Given the description of an element on the screen output the (x, y) to click on. 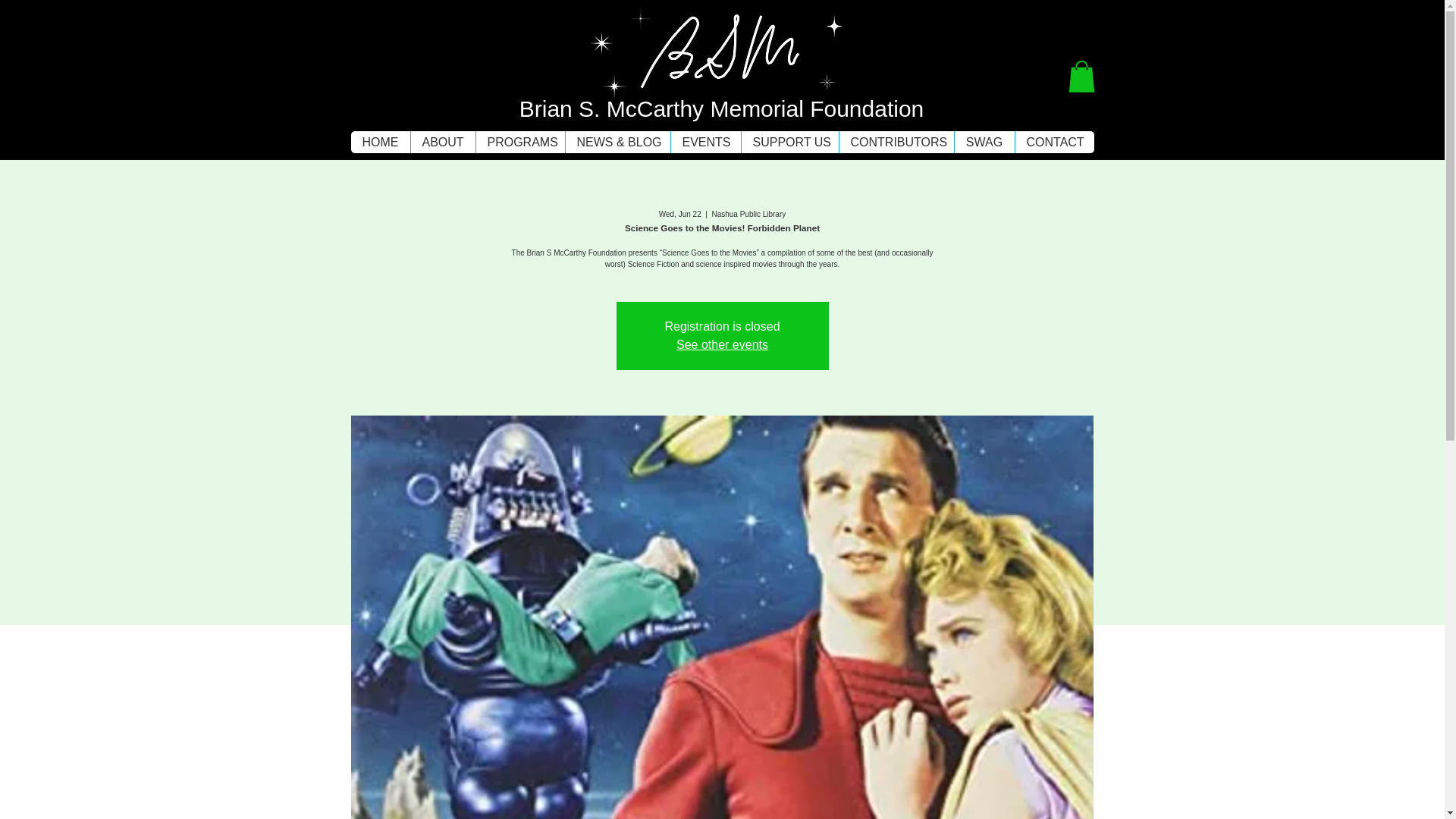
SUPPORT US (788, 142)
HOME (379, 142)
BSM Logo 90HX180W NO TEXT.jpg (719, 72)
Brian S. McCarthy Memorial Foundation (721, 108)
See other events (722, 344)
SWAG (983, 142)
CONTACT (1054, 142)
